Given the description of an element on the screen output the (x, y) to click on. 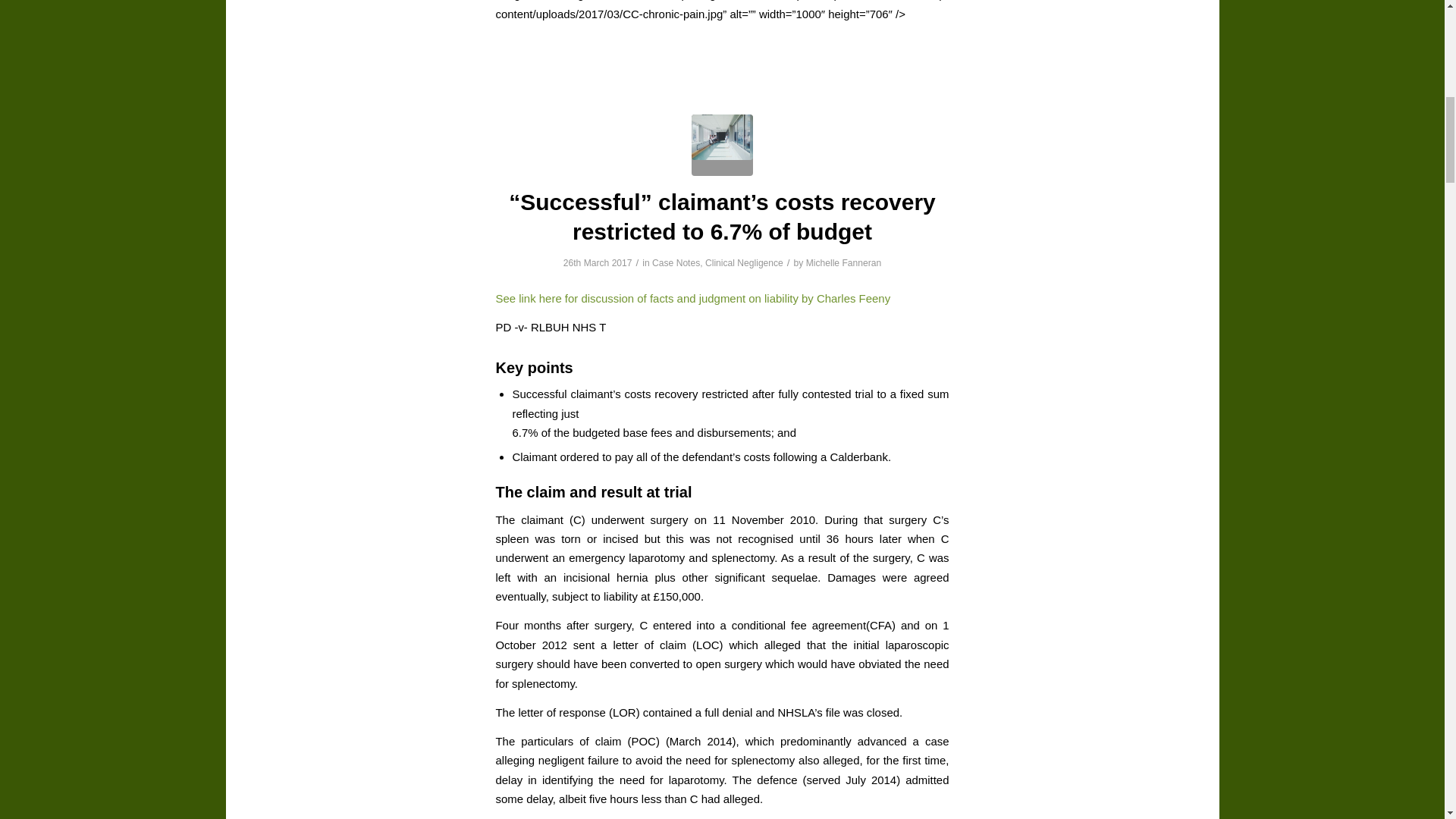
Posts by Michelle Fanneran (844, 262)
Clinical Negligence (743, 262)
Case Notes (676, 262)
Michelle Fanneran (844, 262)
hospital (721, 145)
